Given the description of an element on the screen output the (x, y) to click on. 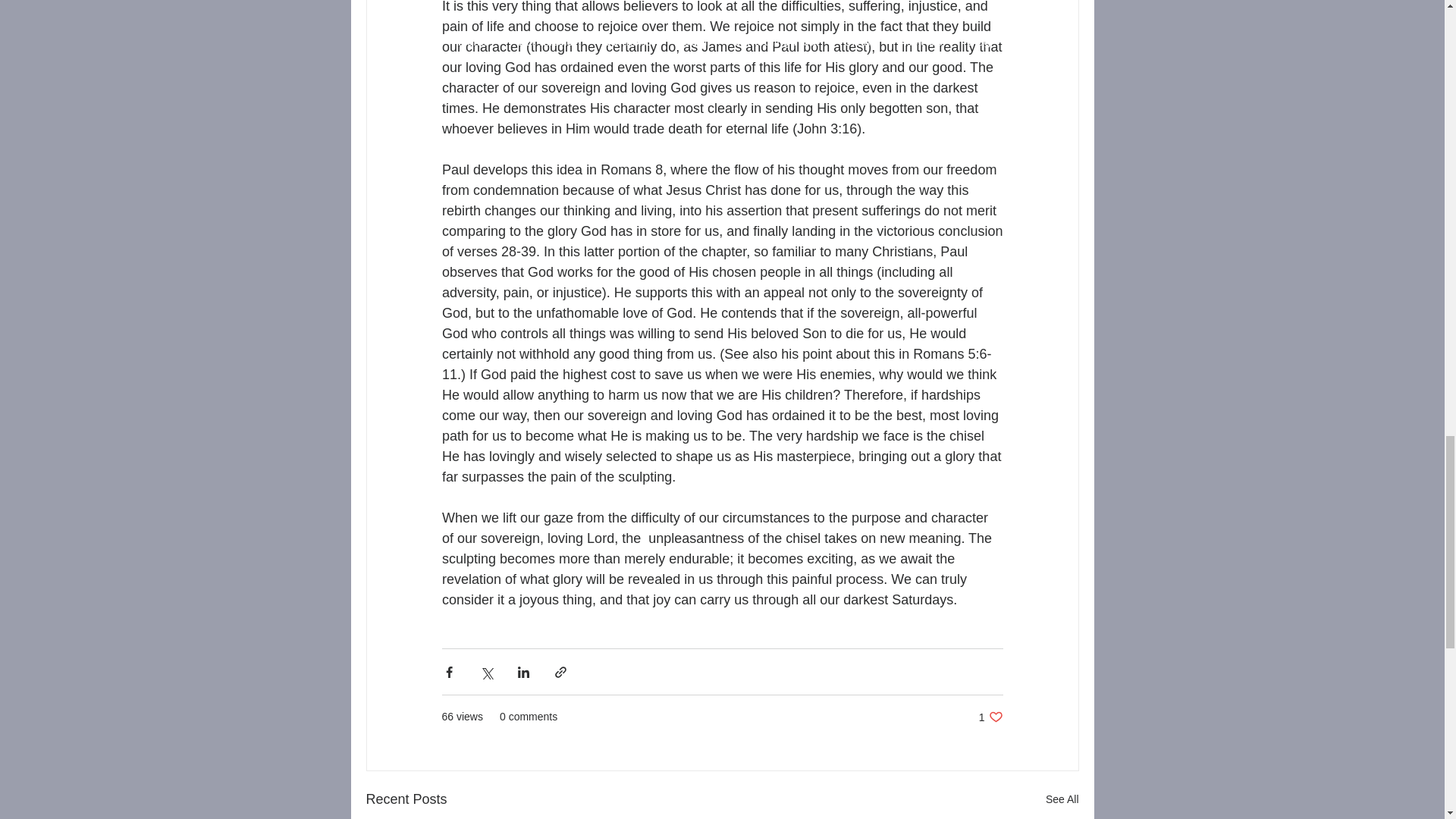
See All (1061, 799)
